Given the description of an element on the screen output the (x, y) to click on. 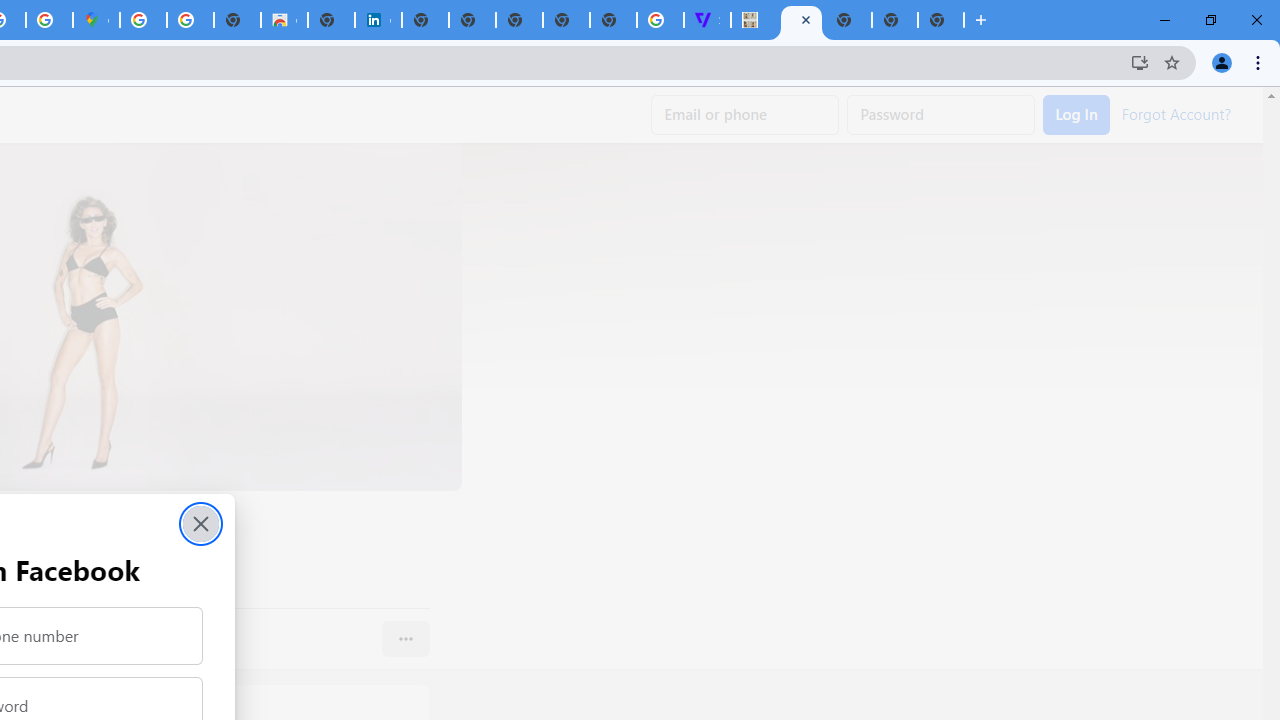
Streaming - The Verge (706, 20)
New Tab (848, 20)
Google Maps (96, 20)
Accessible login button (1076, 115)
Password (941, 115)
Chrome Web Store (284, 20)
MILEY CYRUS. (754, 20)
